Given the description of an element on the screen output the (x, y) to click on. 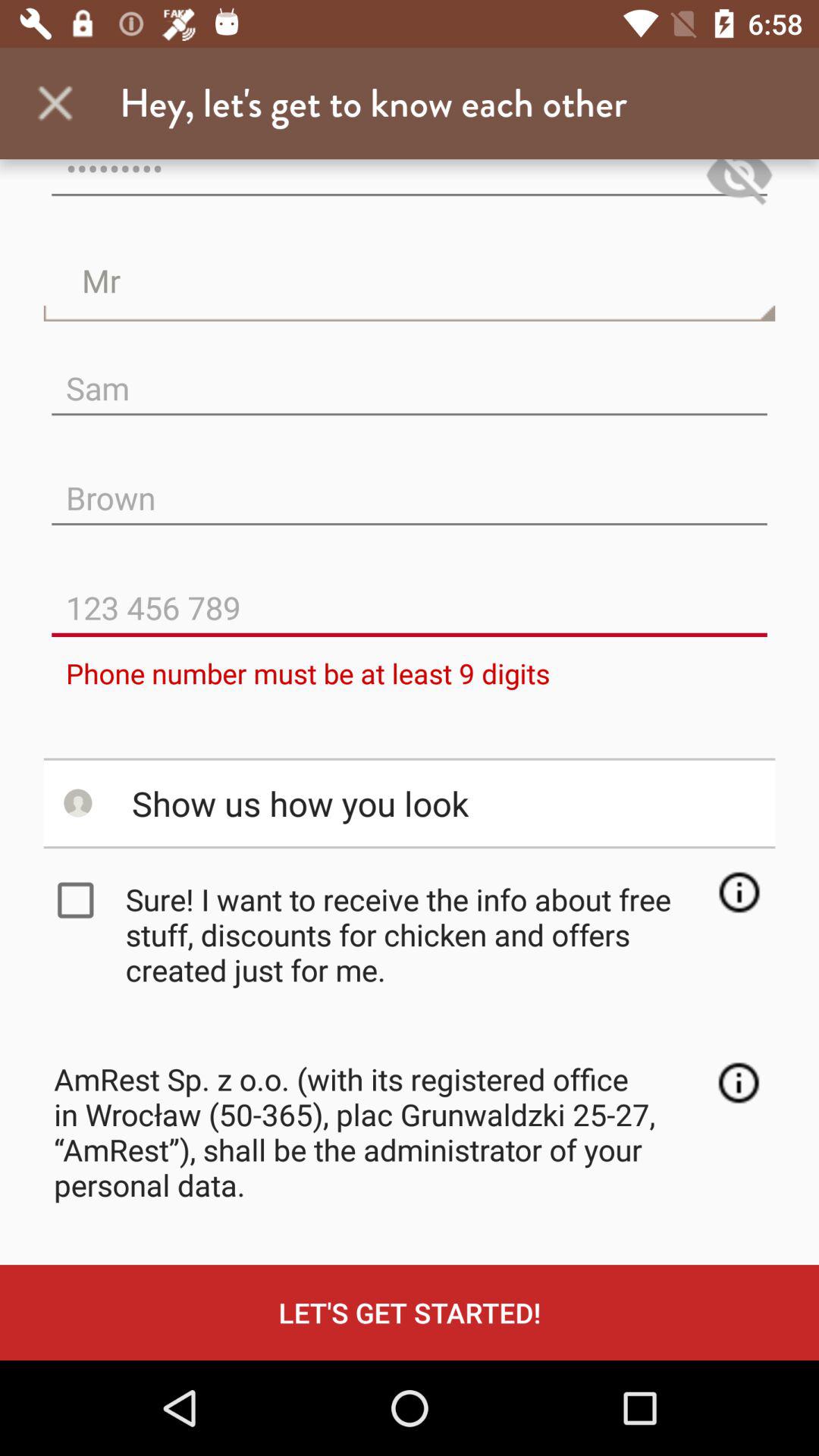
turn on the item at the bottom right corner (738, 1082)
